Given the description of an element on the screen output the (x, y) to click on. 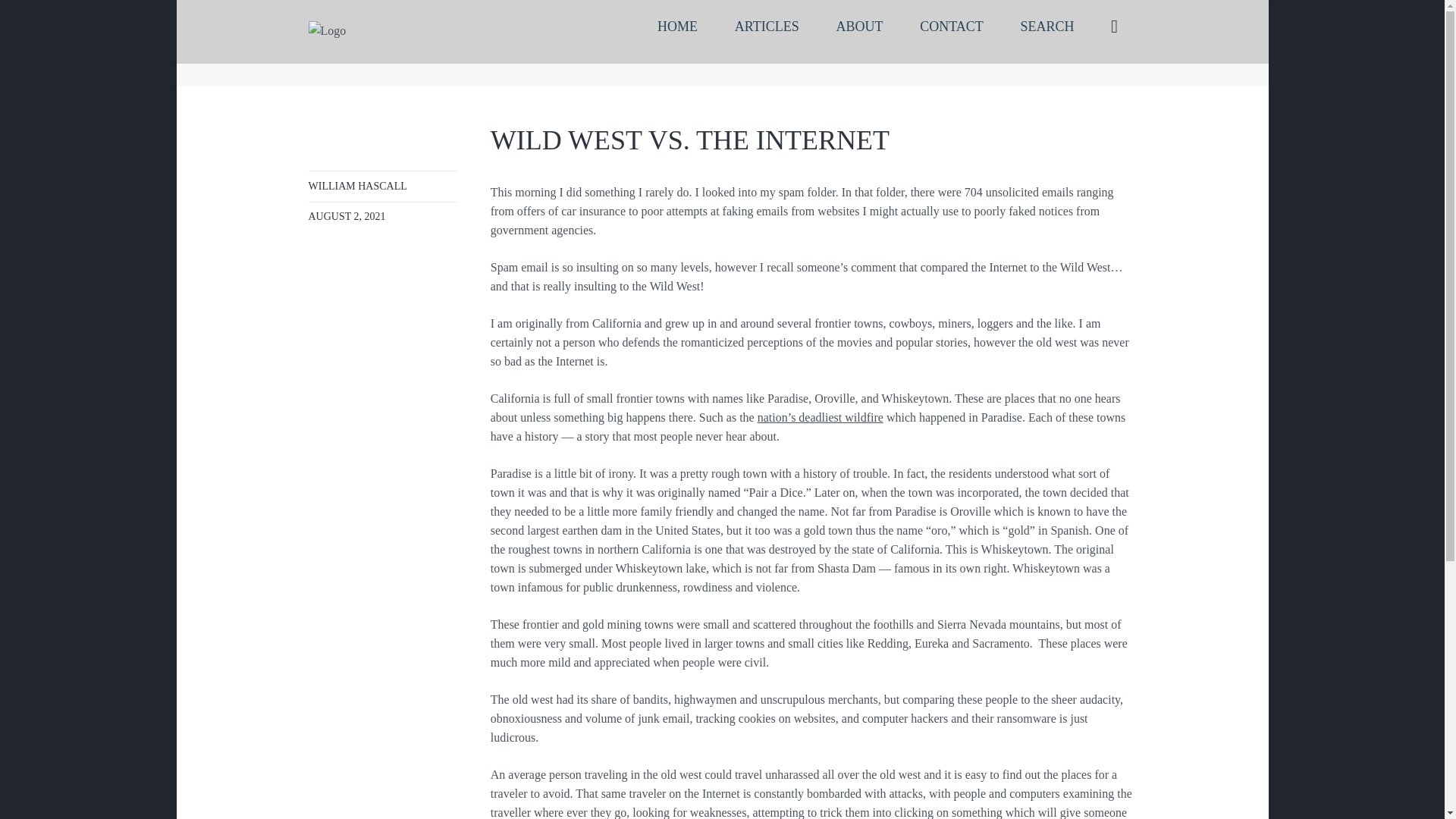
WILLIAM HASCALL (356, 185)
Posts by William Hascall (356, 185)
ARTICLES (766, 27)
CONTACT (951, 27)
ABOUT (859, 27)
SEARCH (1047, 27)
HOME (677, 27)
